Given the description of an element on the screen output the (x, y) to click on. 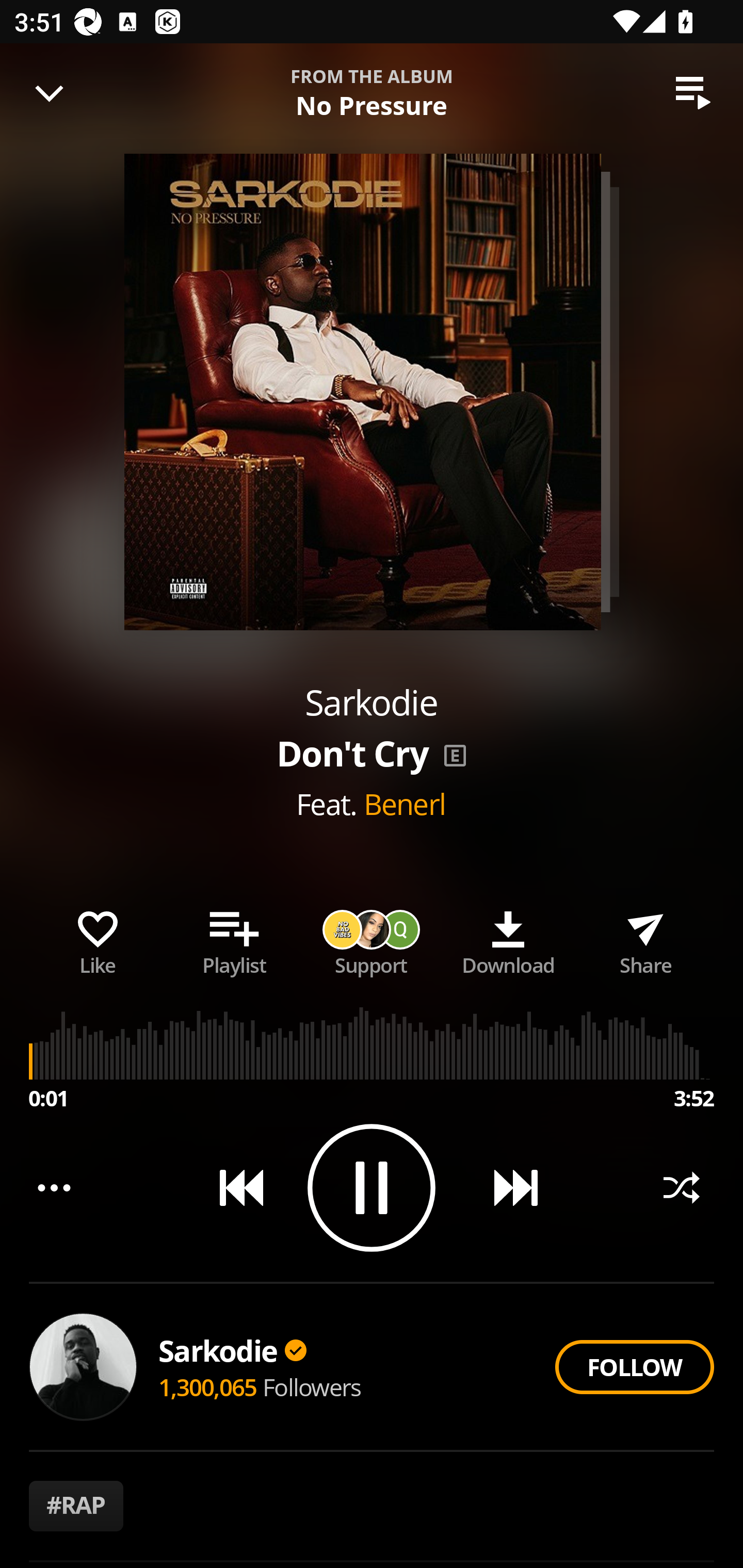
Minimise player (49, 93)
Queue (693, 93)
Don't Cry (305, 83)
Album art (362, 391)
Sarkodie (370, 701)
Like (97, 939)
Add song to playlist Playlist (234, 939)
Support (371, 939)
Download (507, 939)
Share (645, 939)
Play/Pause (371, 1187)
Previous song (233, 1187)
Next song (508, 1187)
Sarkodie (232, 1350)
FOLLOW Follow (634, 1366)
1,300,065 (208, 1386)
#RAP (75, 1505)
